Given the description of an element on the screen output the (x, y) to click on. 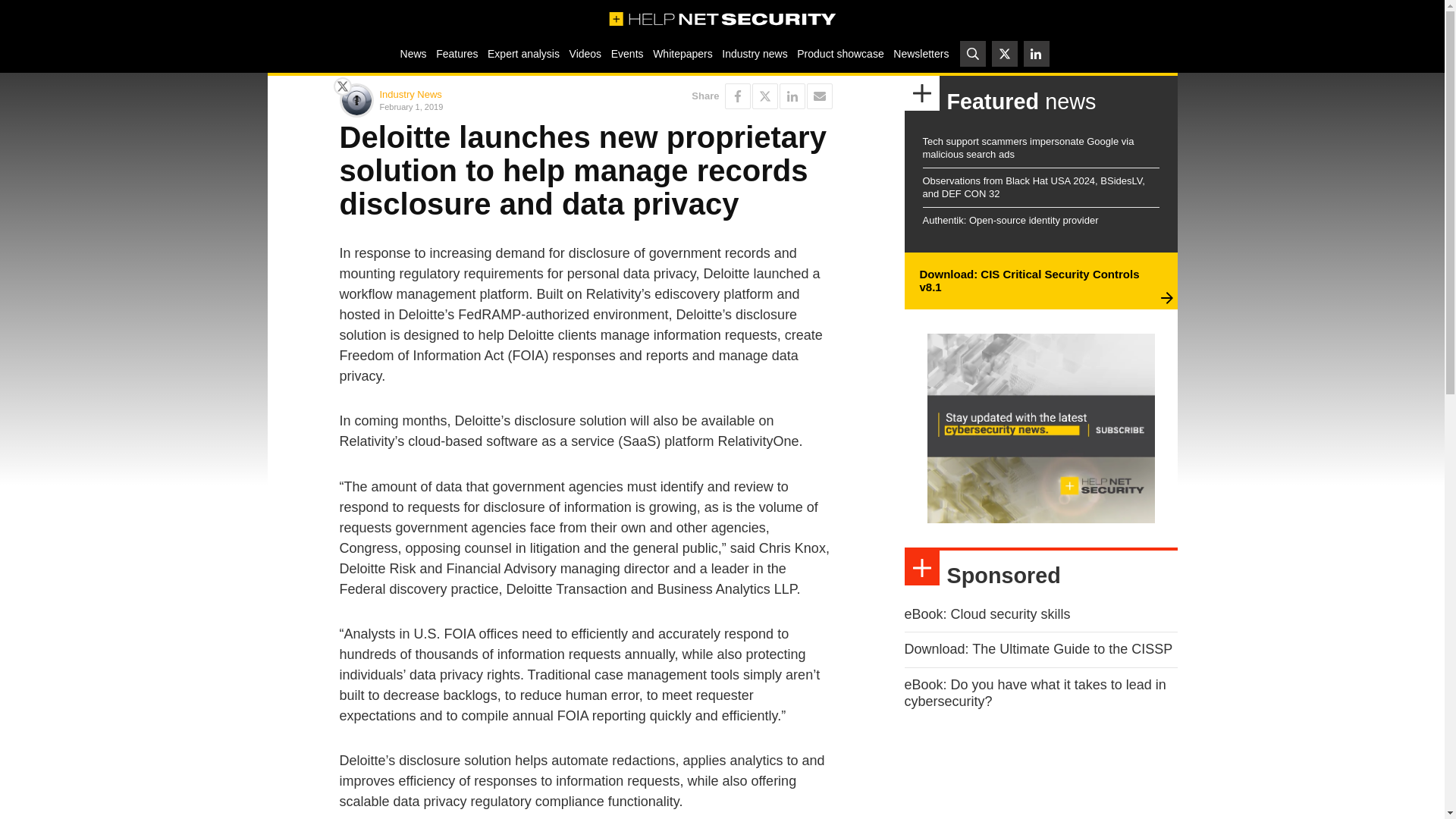
Industry News (409, 93)
Industry news (754, 53)
Expert analysis (523, 53)
Events (626, 53)
Download: CIS Critical Security Controls v8.1 (1028, 280)
Authentik: Open-source identity provider (1009, 220)
